Given the description of an element on the screen output the (x, y) to click on. 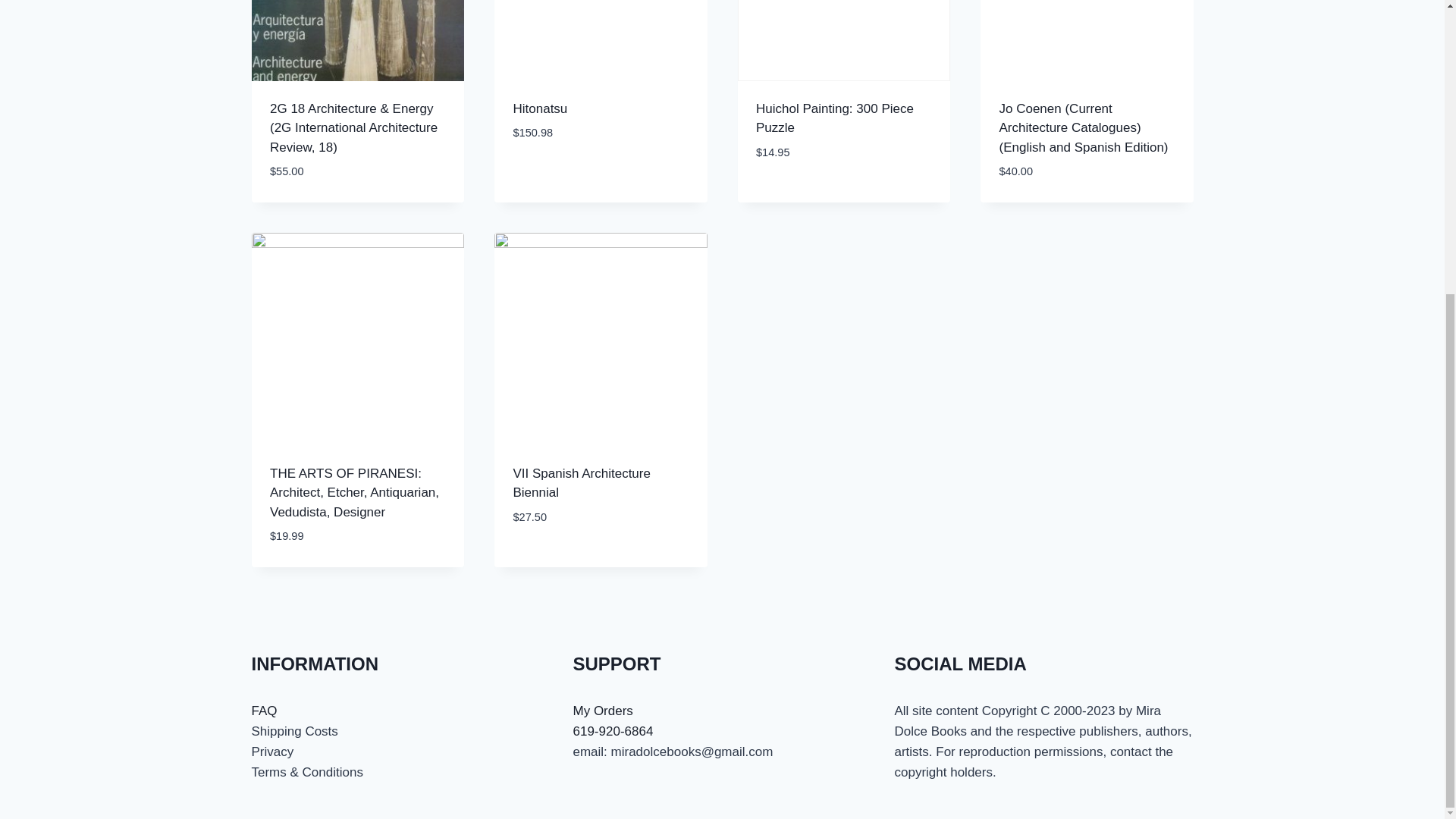
My Orders (603, 710)
Huichol Painting: 300 Piece Puzzle (834, 118)
FAQ (264, 710)
Hitonatsu (539, 108)
VII Spanish Architecture Biennial (580, 483)
619-920-6864 (613, 730)
